Given the description of an element on the screen output the (x, y) to click on. 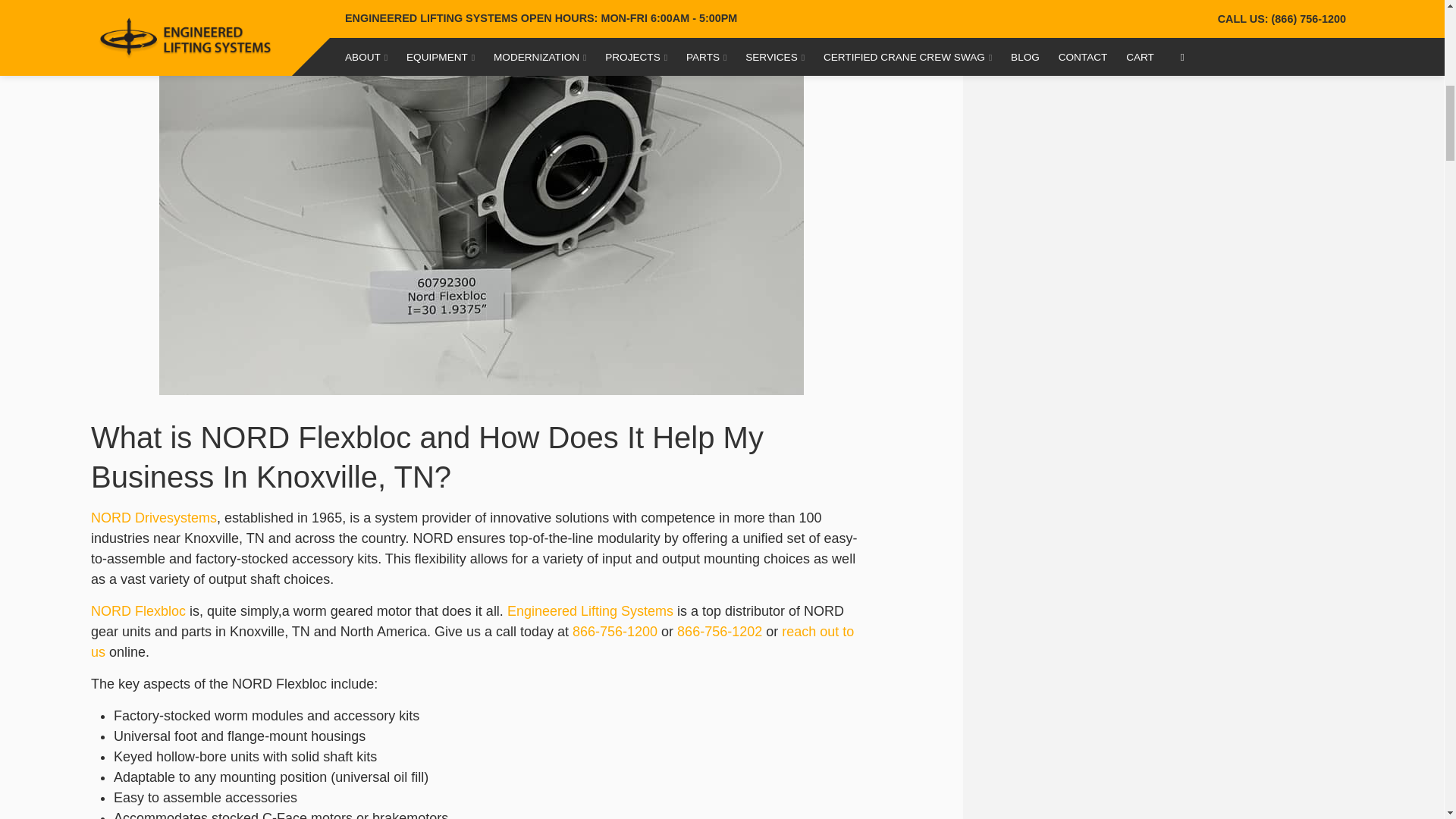
NORD Flexbloc St. Louis, MO - NORD (138, 611)
NORD Flexbloc St. Louis, MO - NORD (153, 517)
